Given the description of an element on the screen output the (x, y) to click on. 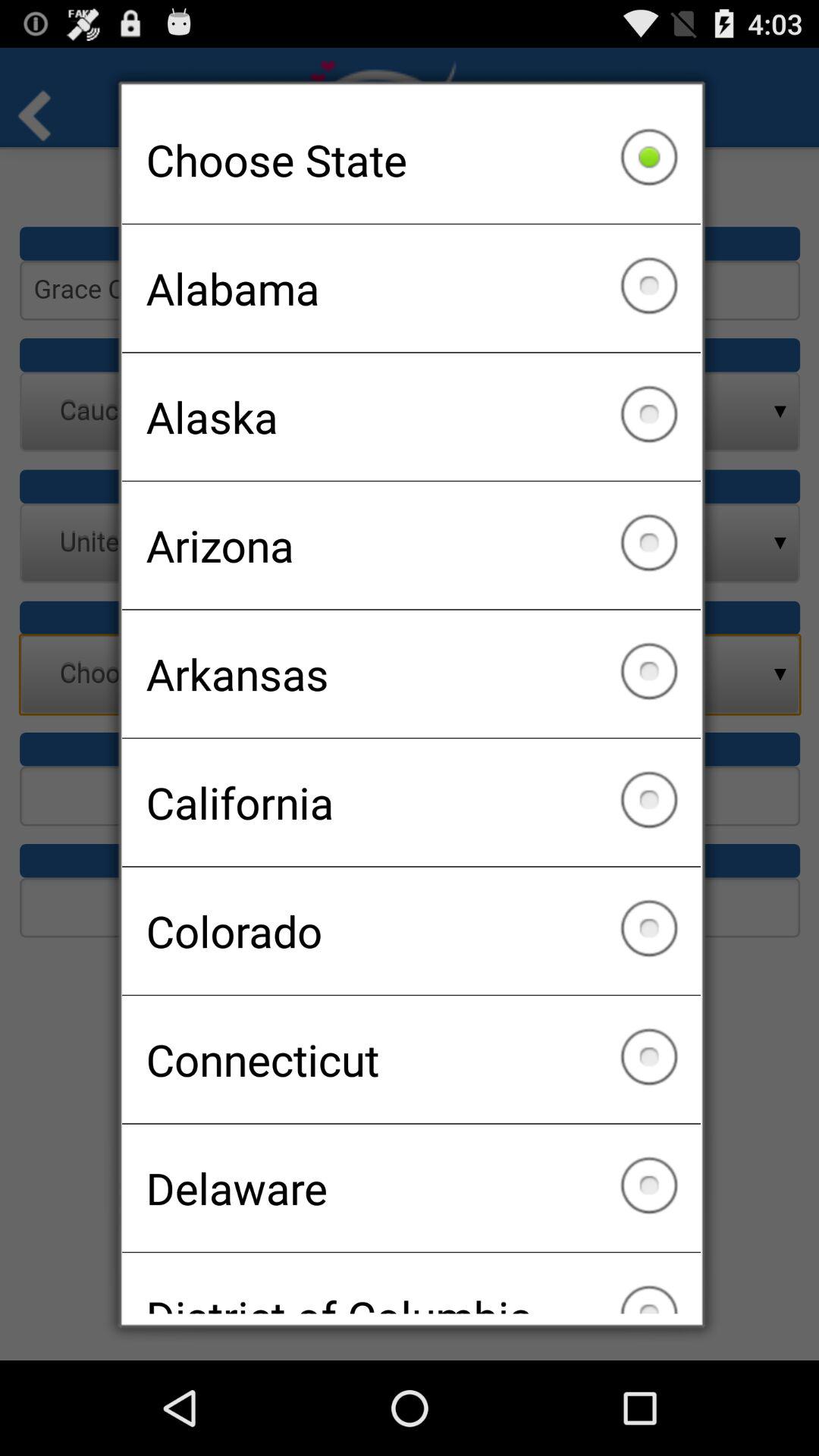
tap item below colorado icon (411, 1059)
